Given the description of an element on the screen output the (x, y) to click on. 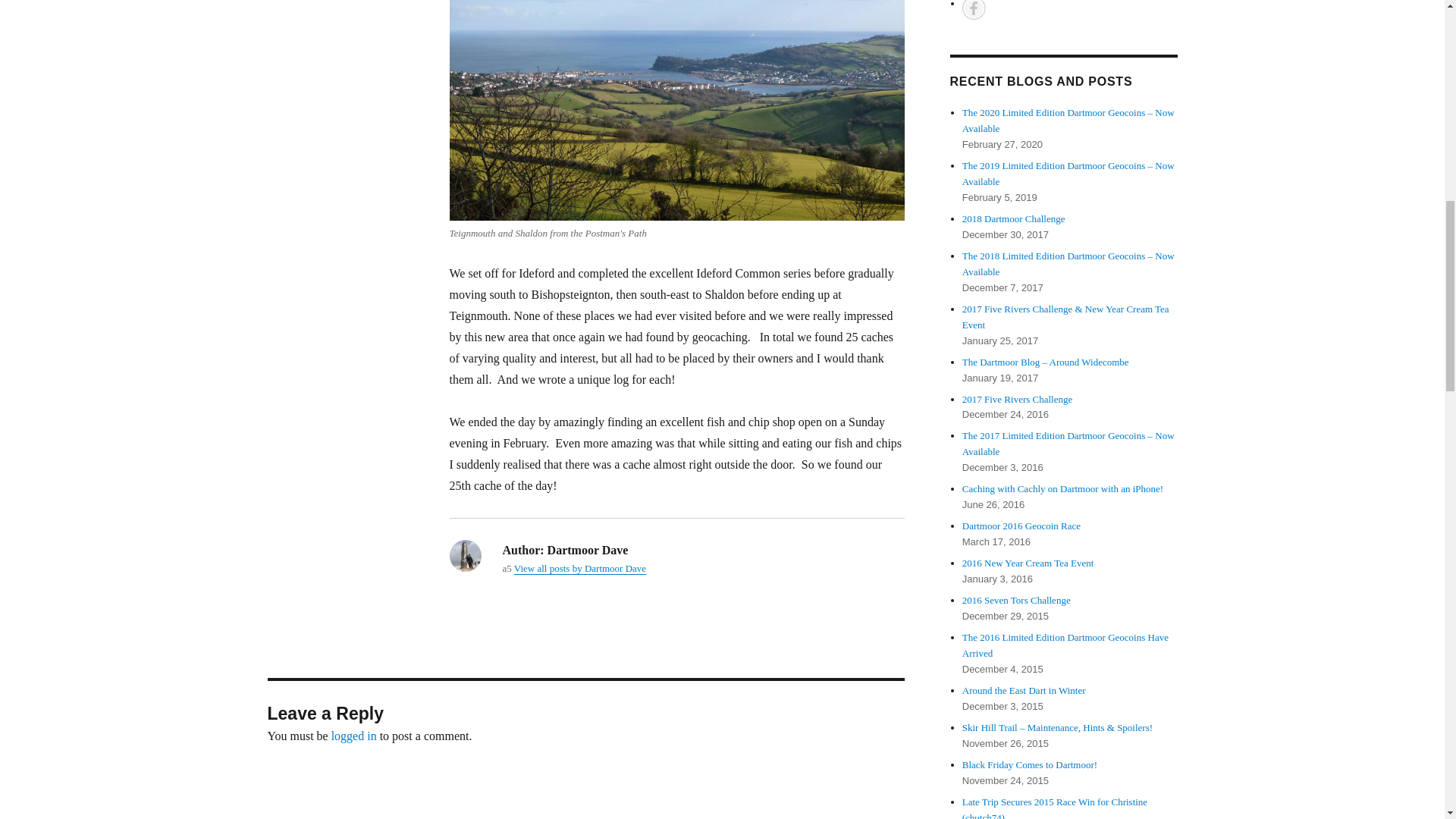
Teignmouth (676, 110)
